Given the description of an element on the screen output the (x, y) to click on. 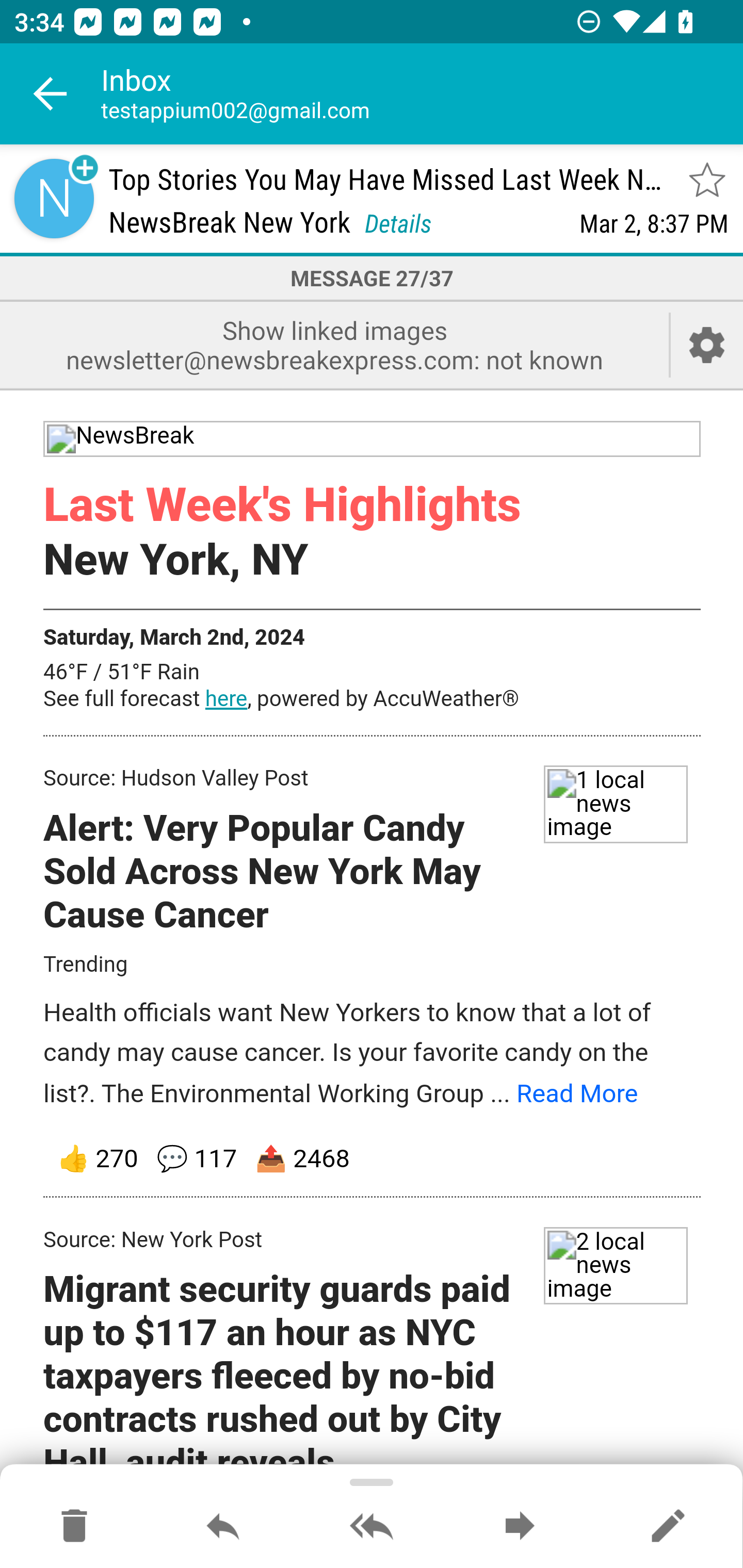
Navigate up (50, 93)
Inbox testappium002@gmail.com (422, 93)
Sender contact button (53, 198)
Account setup (706, 344)
here (225, 699)
👍 270   💬 117   📤 2468 (372, 1159)
Move to Deleted (74, 1527)
Reply (222, 1527)
Reply all (371, 1527)
Forward (519, 1527)
Reply as new (667, 1527)
